Given the description of an element on the screen output the (x, y) to click on. 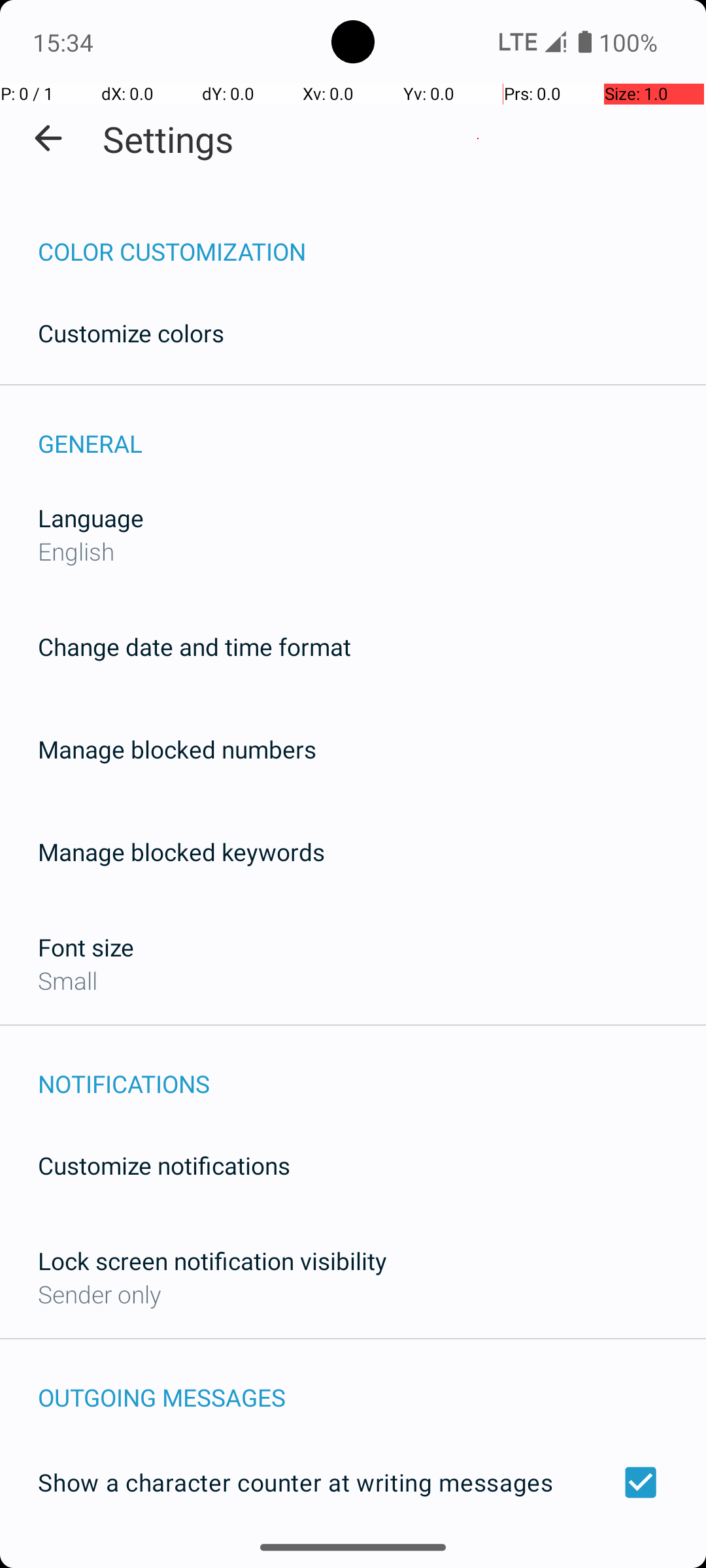
NOTIFICATIONS Element type: android.widget.TextView (371, 1069)
OUTGOING MESSAGES Element type: android.widget.TextView (371, 1383)
Change date and time format Element type: android.widget.TextView (194, 646)
Manage blocked numbers Element type: android.widget.TextView (176, 748)
Manage blocked keywords Element type: android.widget.TextView (180, 851)
Font size Element type: android.widget.TextView (85, 946)
Small Element type: android.widget.TextView (67, 979)
Lock screen notification visibility Element type: android.widget.TextView (211, 1260)
Sender only Element type: android.widget.TextView (99, 1293)
Show a character counter at writing messages Element type: android.widget.CheckBox (352, 1482)
Remove accents and diacritics at sending messages Element type: android.widget.CheckBox (352, 1559)
